Given the description of an element on the screen output the (x, y) to click on. 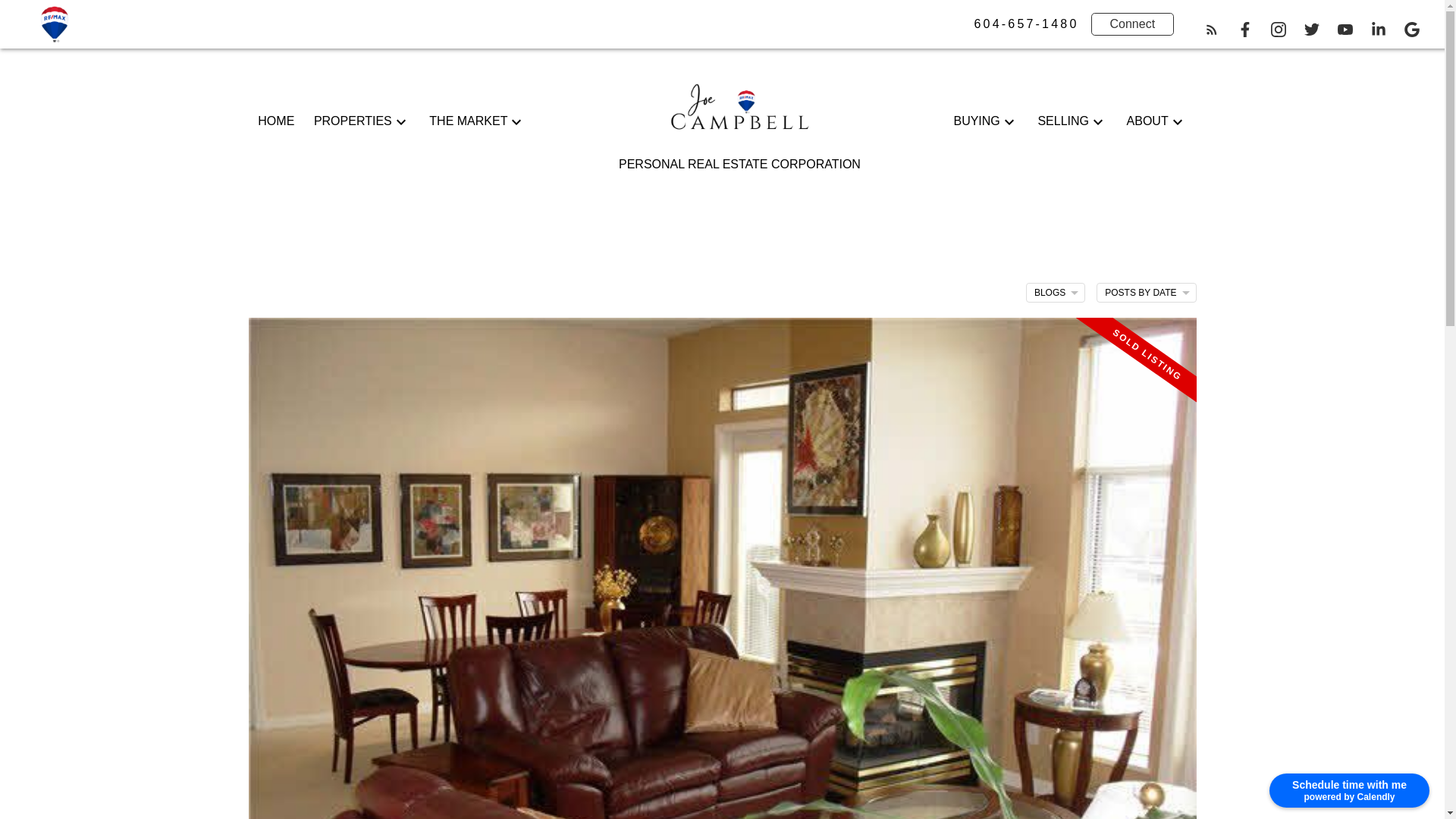
Connect (1132, 24)
HOME (275, 121)
